Given the description of an element on the screen output the (x, y) to click on. 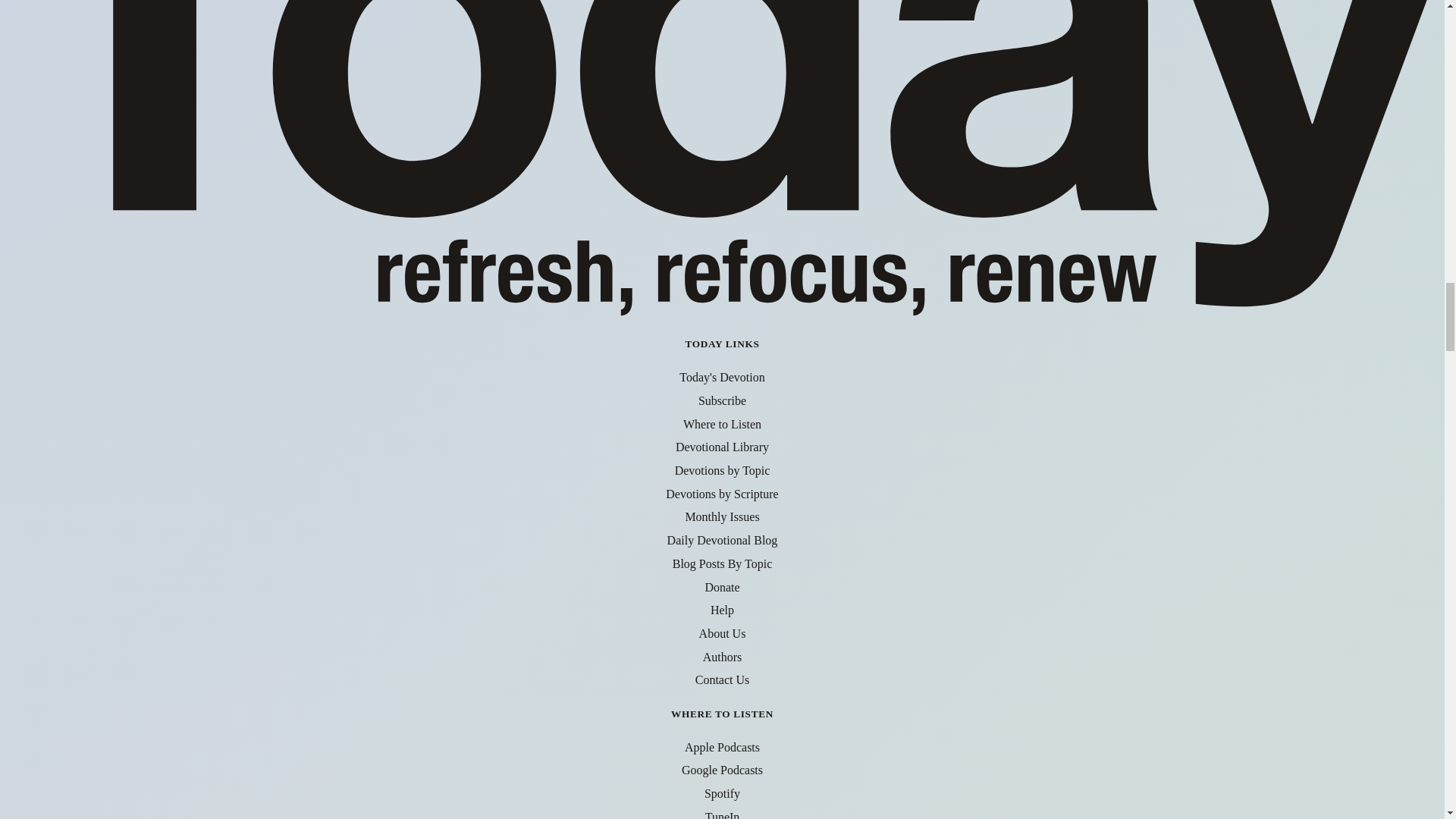
Today's Devotion (721, 377)
Blog Posts By Topic (722, 563)
Devotional Library (721, 446)
Donate (721, 586)
Help (721, 609)
About Us (721, 633)
Monthly Issues (721, 516)
Devotions by Scripture (721, 493)
Subscribe (721, 400)
Devotions by Topic (722, 470)
Where to Listen (721, 423)
Daily Devotional Blog (721, 540)
